Given the description of an element on the screen output the (x, y) to click on. 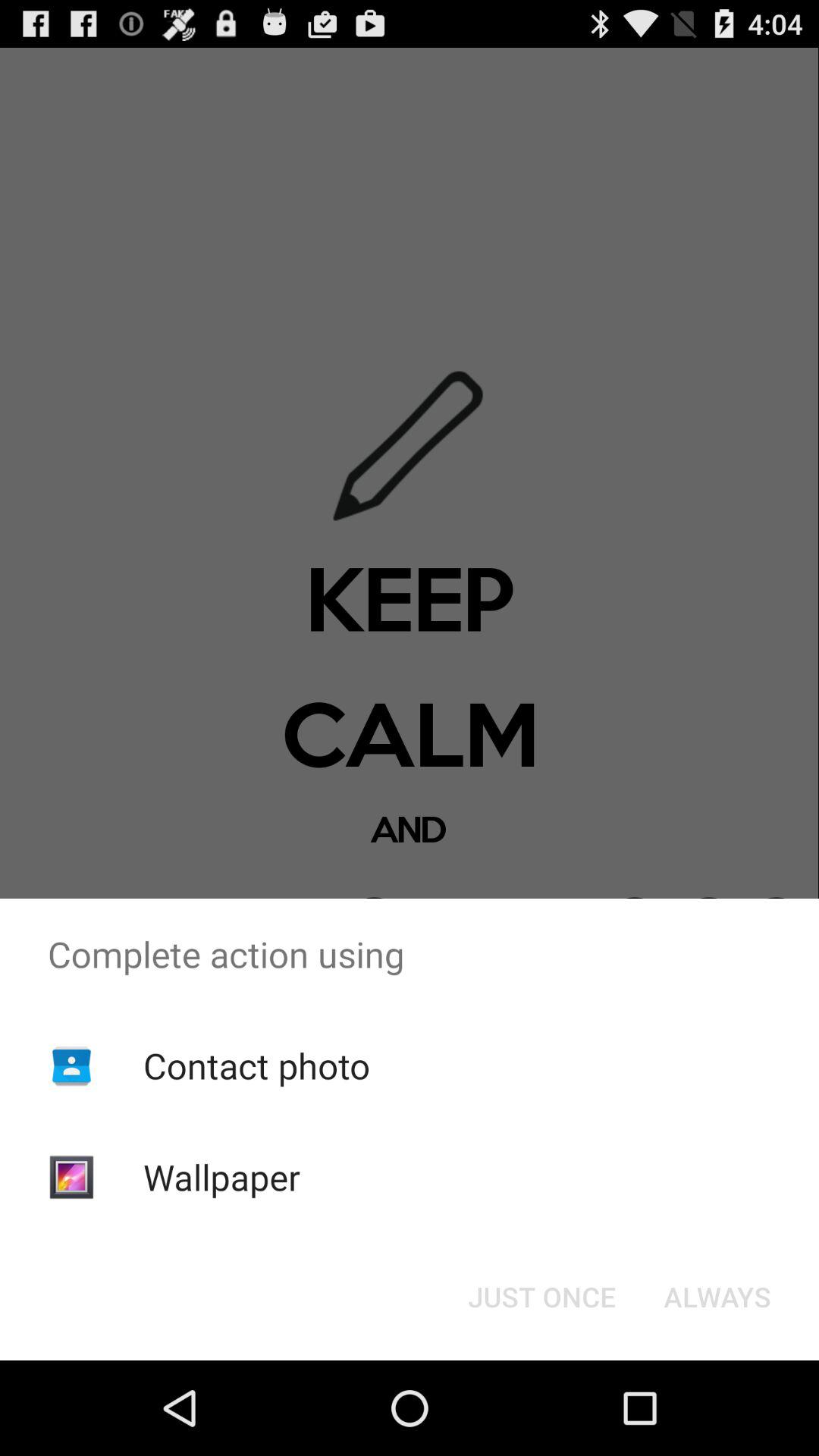
scroll to the always item (717, 1296)
